Given the description of an element on the screen output the (x, y) to click on. 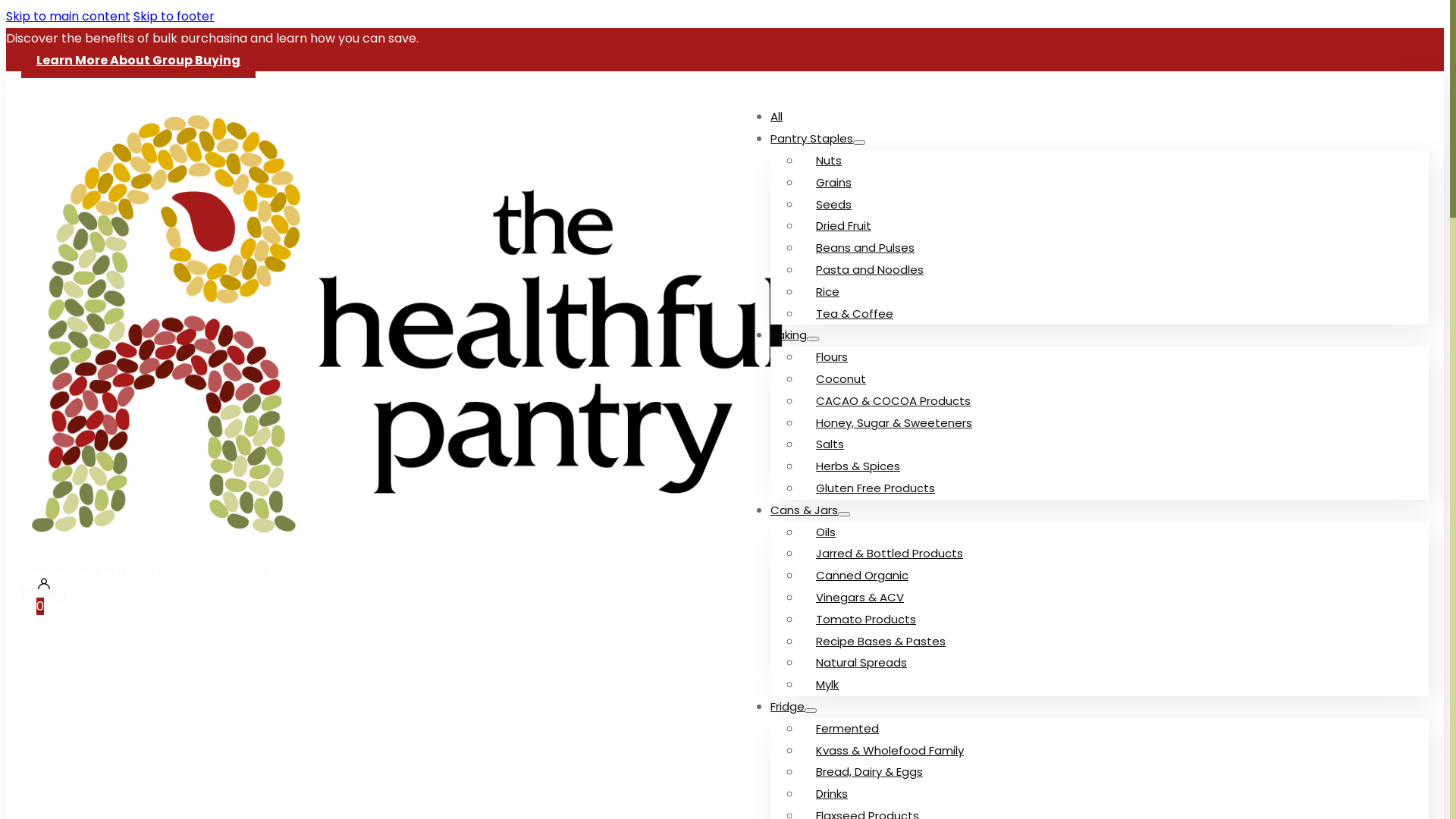
Pantry Staples Element type: text (811, 138)
Flours Element type: text (831, 356)
Dried Fruit Element type: text (843, 225)
CACAO & COCOA Products Element type: text (892, 400)
Fermented Element type: text (847, 727)
Canned Organic Element type: text (861, 574)
Honey, Sugar & Sweeteners Element type: text (893, 422)
Kvass & Wholefood Family Element type: text (889, 749)
Recipe Bases & Pastes Element type: text (880, 640)
Drinks Element type: text (831, 793)
Tea & Coffee Element type: text (854, 313)
Salts Element type: text (829, 443)
All Element type: text (776, 116)
Coconut Element type: text (840, 378)
Learn More About Group Buying Element type: text (138, 60)
Skip to footer Element type: text (173, 16)
Grains Element type: text (833, 181)
Skip to main content Element type: text (68, 16)
Fridge Element type: text (787, 706)
Gluten Free Products Element type: text (875, 487)
Seeds Element type: text (833, 203)
Cans & Jars Element type: text (803, 509)
Bread, Dairy & Eggs Element type: text (869, 771)
Nuts Element type: text (828, 159)
Search Element type: text (43, 593)
Natural Spreads Element type: text (861, 661)
Herbs & Spices Element type: text (857, 465)
Oils Element type: text (825, 531)
Vinegars & ACV Element type: text (859, 596)
Mylk Element type: text (826, 683)
0 Element type: text (39, 606)
Beans and Pulses Element type: text (864, 247)
Rice Element type: text (827, 291)
Tomato Products Element type: text (865, 618)
Jarred & Bottled Products Element type: text (889, 552)
Baking Element type: text (788, 334)
Pasta and Noodles Element type: text (869, 269)
